Given the description of an element on the screen output the (x, y) to click on. 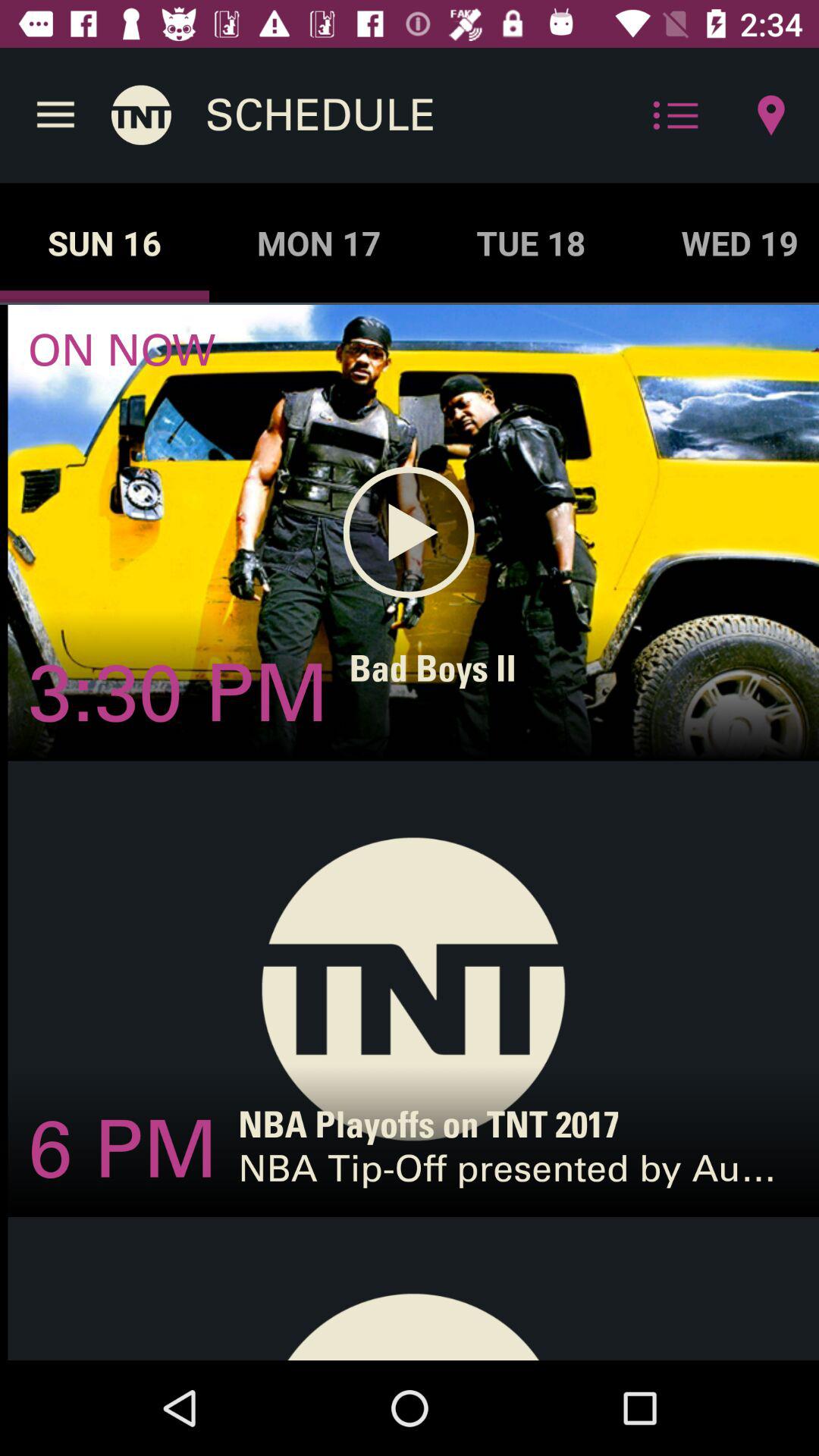
press the app above wed 19 icon (771, 115)
